Given the description of an element on the screen output the (x, y) to click on. 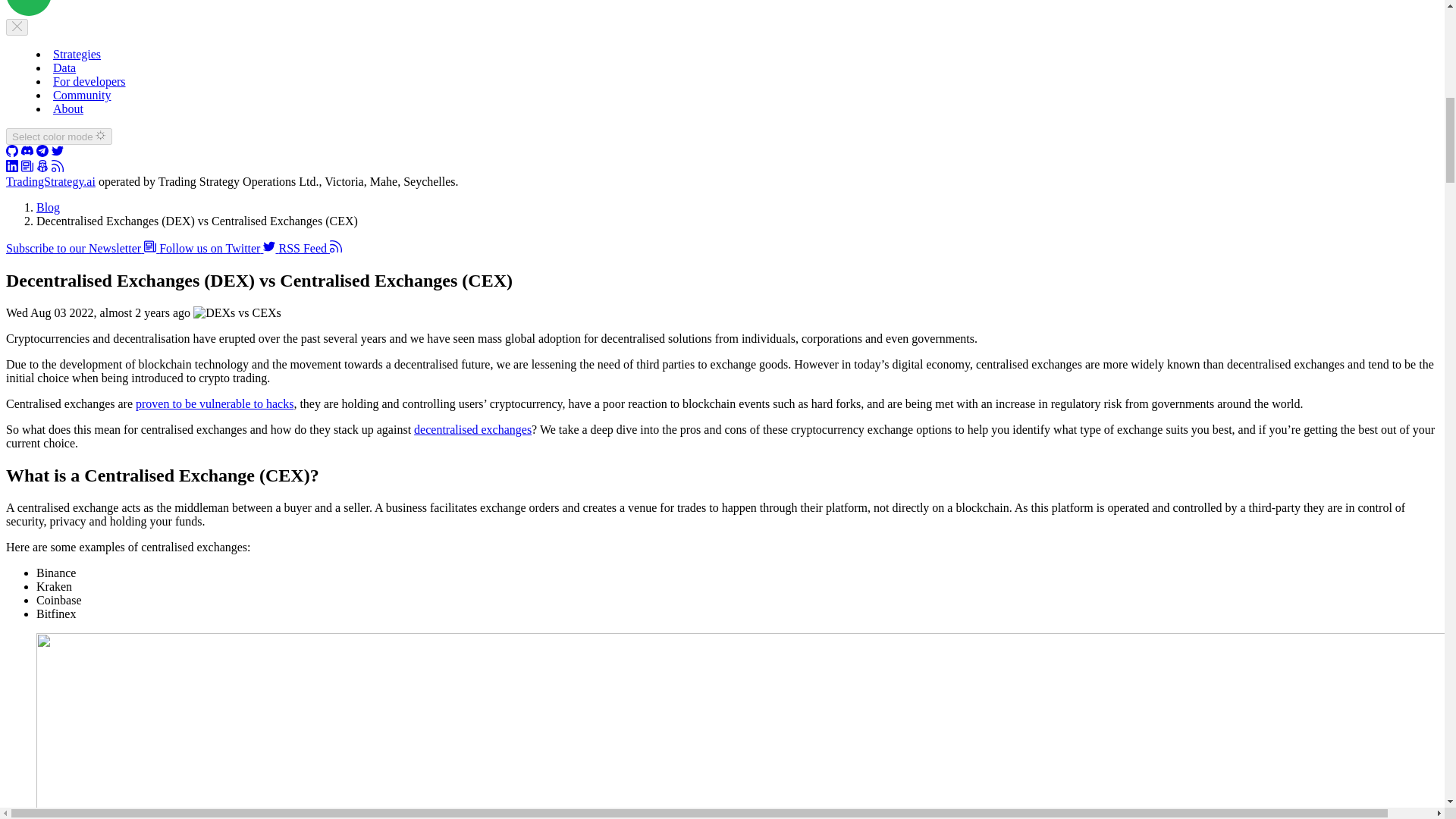
Strategies (76, 53)
RSS Feed (310, 247)
Telegram (42, 152)
LinkedIn (11, 167)
Twitter (57, 152)
RSS (57, 167)
proven to be vulnerable to hacks (214, 403)
Blog (47, 206)
Discord (27, 152)
TradingStrategy.ai (50, 181)
Community (81, 94)
decentralised exchanges (472, 429)
Blog (42, 167)
Data (63, 67)
Subscribe to our Newsletter (81, 247)
